Given the description of an element on the screen output the (x, y) to click on. 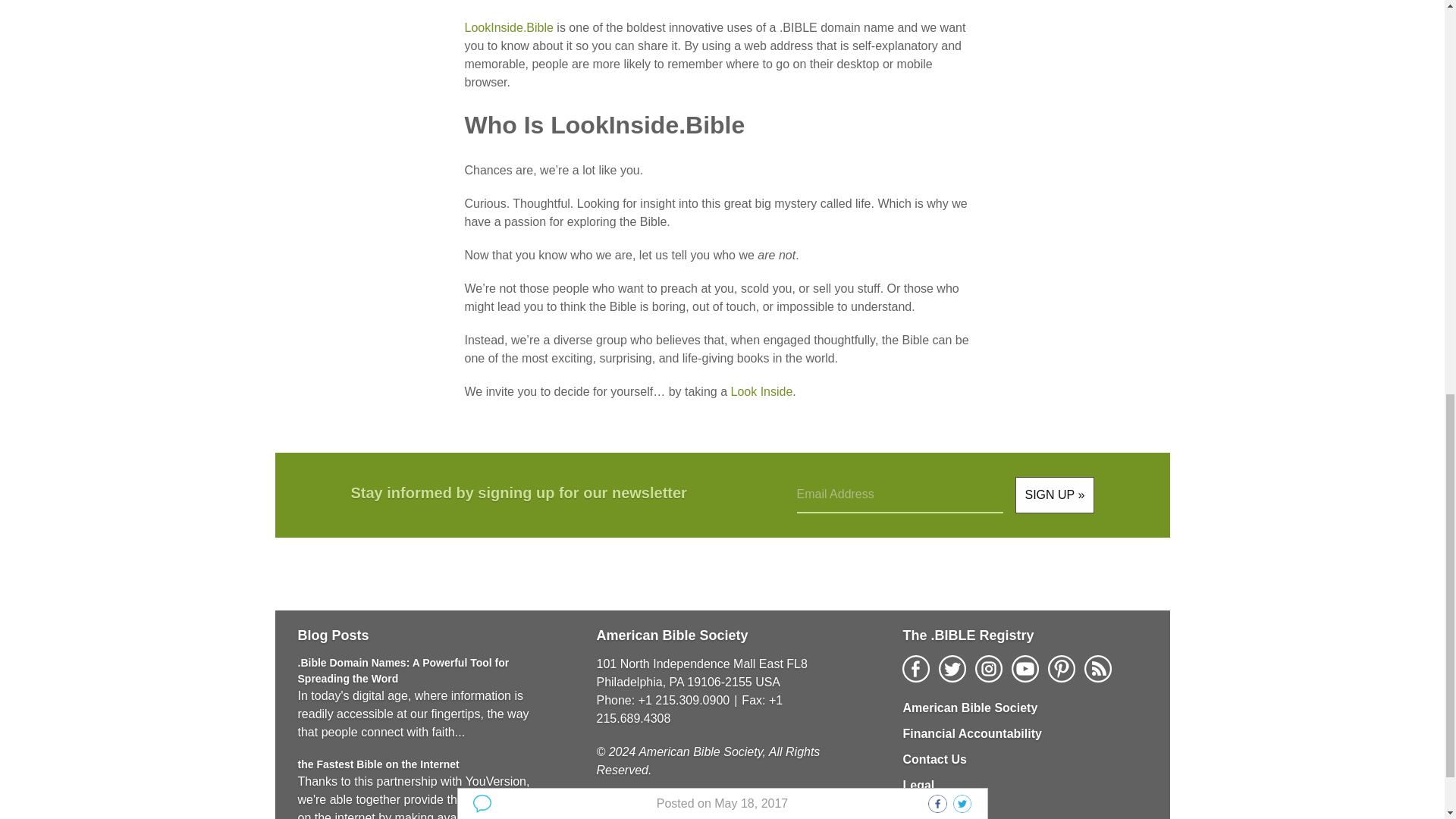
.Bible Domain Names: A Powerful Tool for Spreading the Word (402, 670)
LookInside.Bible (508, 27)
Look Inside (761, 391)
